Given the description of an element on the screen output the (x, y) to click on. 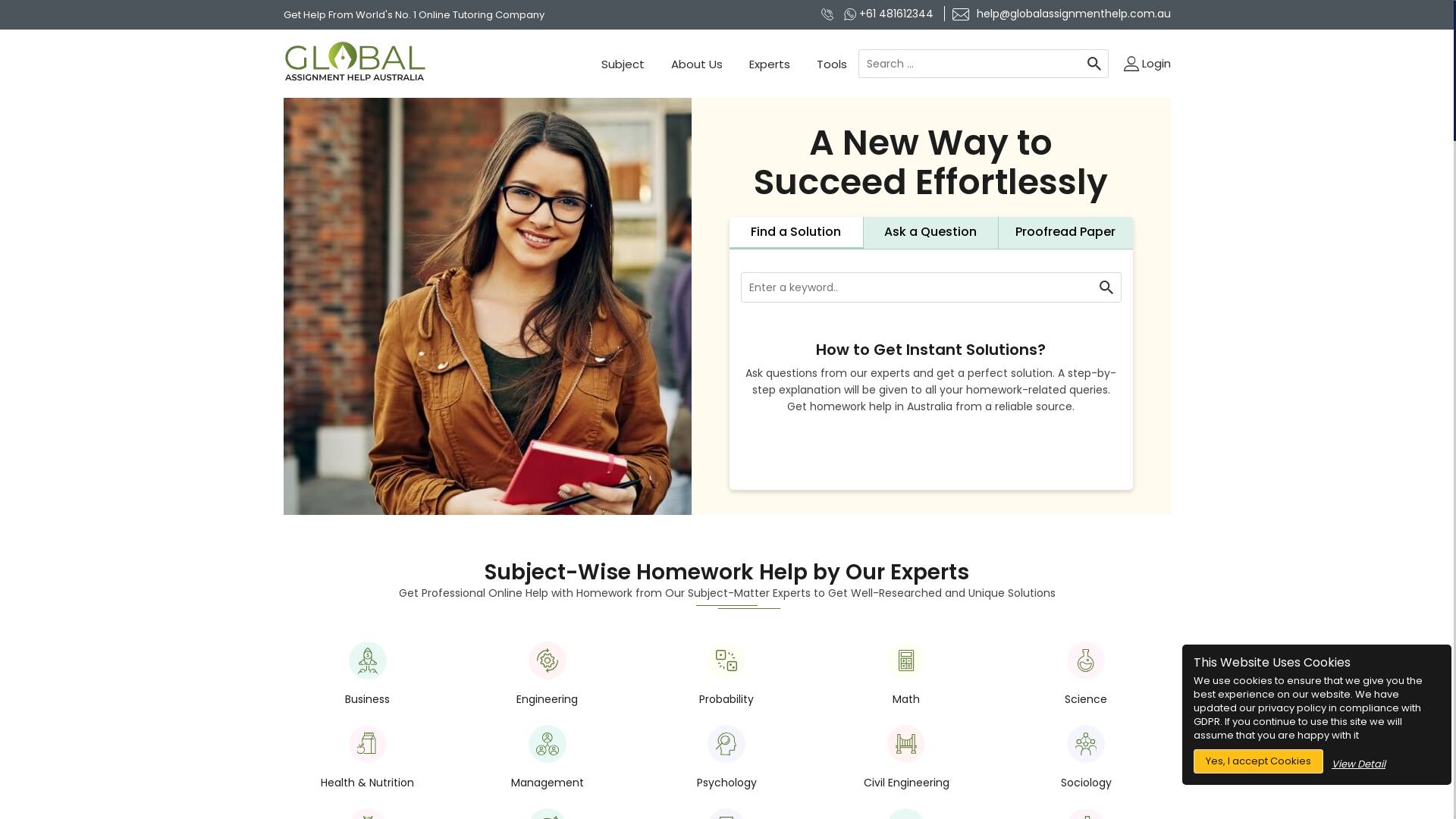
Find a Solution Element type: text (796, 232)
Yes, I accept Cookies Element type: text (1258, 761)
About Us Element type: text (696, 63)
View Detail Element type: text (1358, 763)
Proofread Paper Element type: text (1065, 232)
+61 481612344 Element type: text (890, 13)
help@globalassignmenthelp.com.au Element type: text (1057, 13)
Experts Element type: text (768, 63)
Login Element type: text (1146, 64)
Ask a Question Element type: text (930, 232)
